Given the description of an element on the screen output the (x, y) to click on. 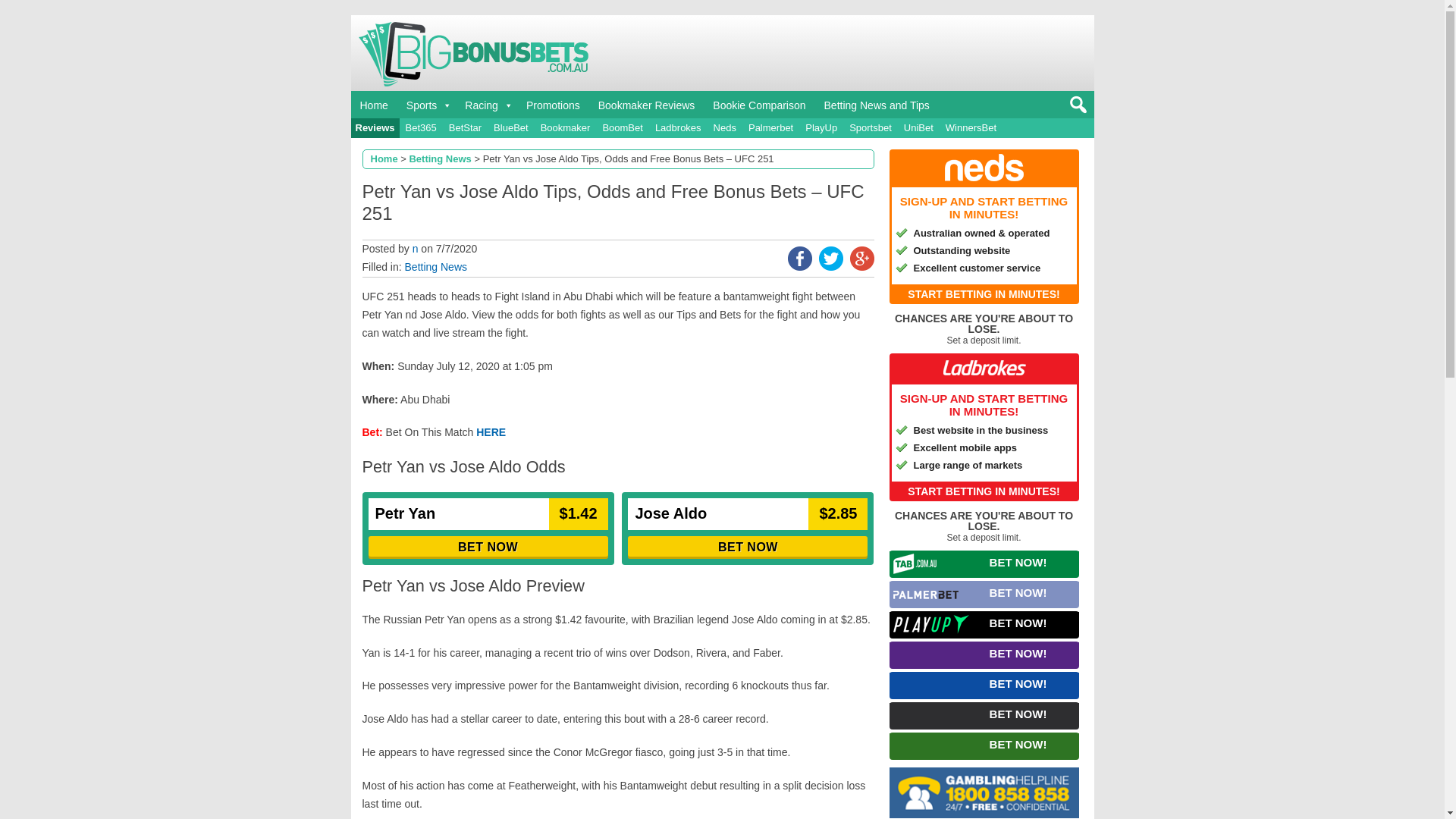
Home (373, 103)
Sportsbet.com.au Review (870, 127)
UniBet.com.au Review (918, 127)
Tweet (830, 266)
Bookmaker Promotions (552, 103)
Palmerbet.com.au Review (770, 127)
Ladbrokes.com.au Review (678, 127)
Big Bet Back (373, 103)
Bet365.com.au Review (420, 127)
Sports (426, 103)
